Given the description of an element on the screen output the (x, y) to click on. 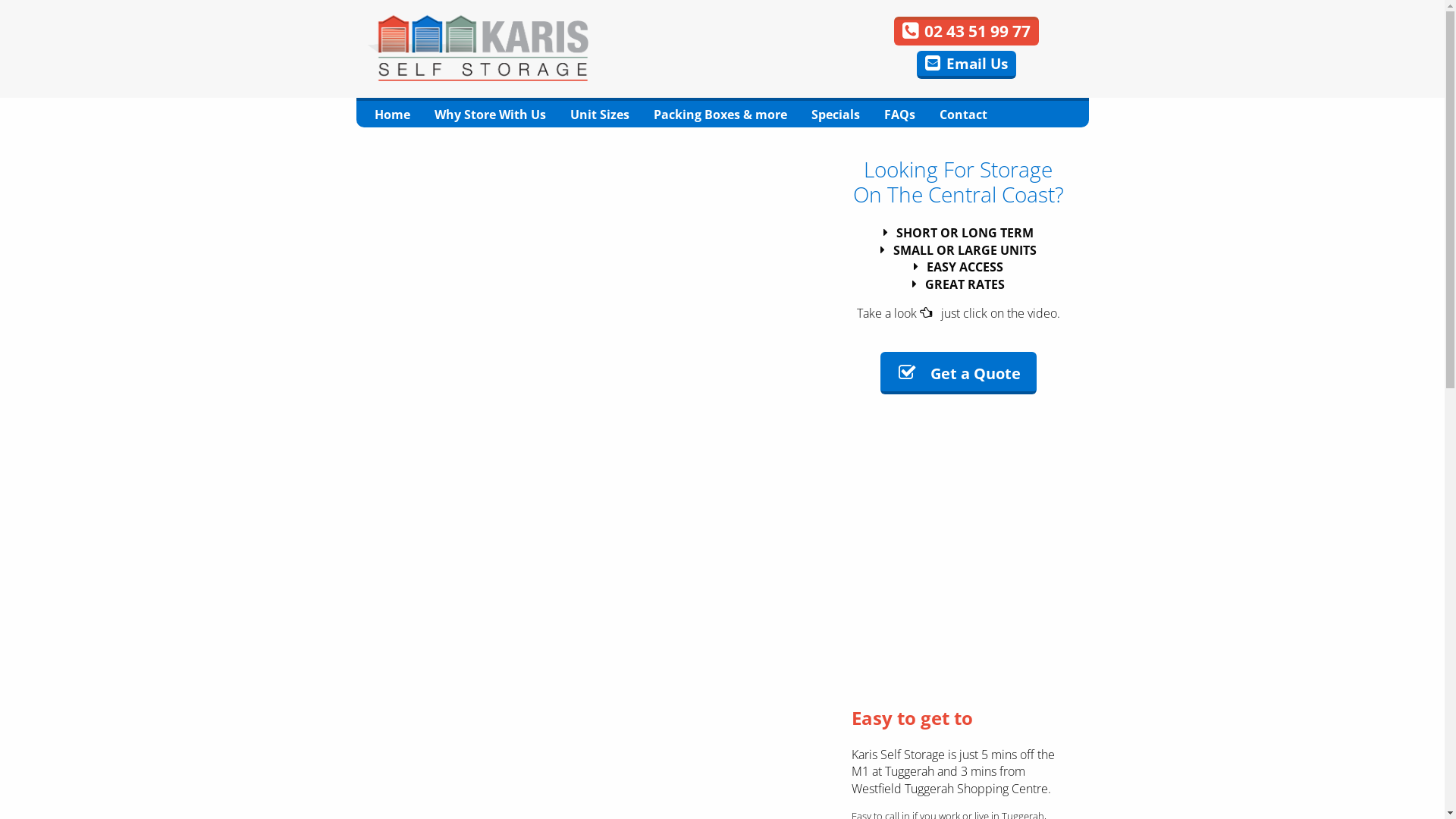
Packing Boxes & more Element type: text (720, 112)
Contact Element type: text (962, 112)
  Get a Quote Element type: text (958, 372)
Specials Element type: text (97, 77)
FAQs Element type: text (164, 77)
Contact Element type: text (230, 77)
Home Element type: text (392, 112)
Specials Element type: text (835, 112)
FAQs Element type: text (899, 112)
Why Store With Us Element type: text (489, 112)
Unit Sizes Element type: text (599, 112)
Email Us Element type: text (965, 64)
Home... Element type: hover (477, 47)
02 43 51 99 77 Element type: text (966, 31)
